Given the description of an element on the screen output the (x, y) to click on. 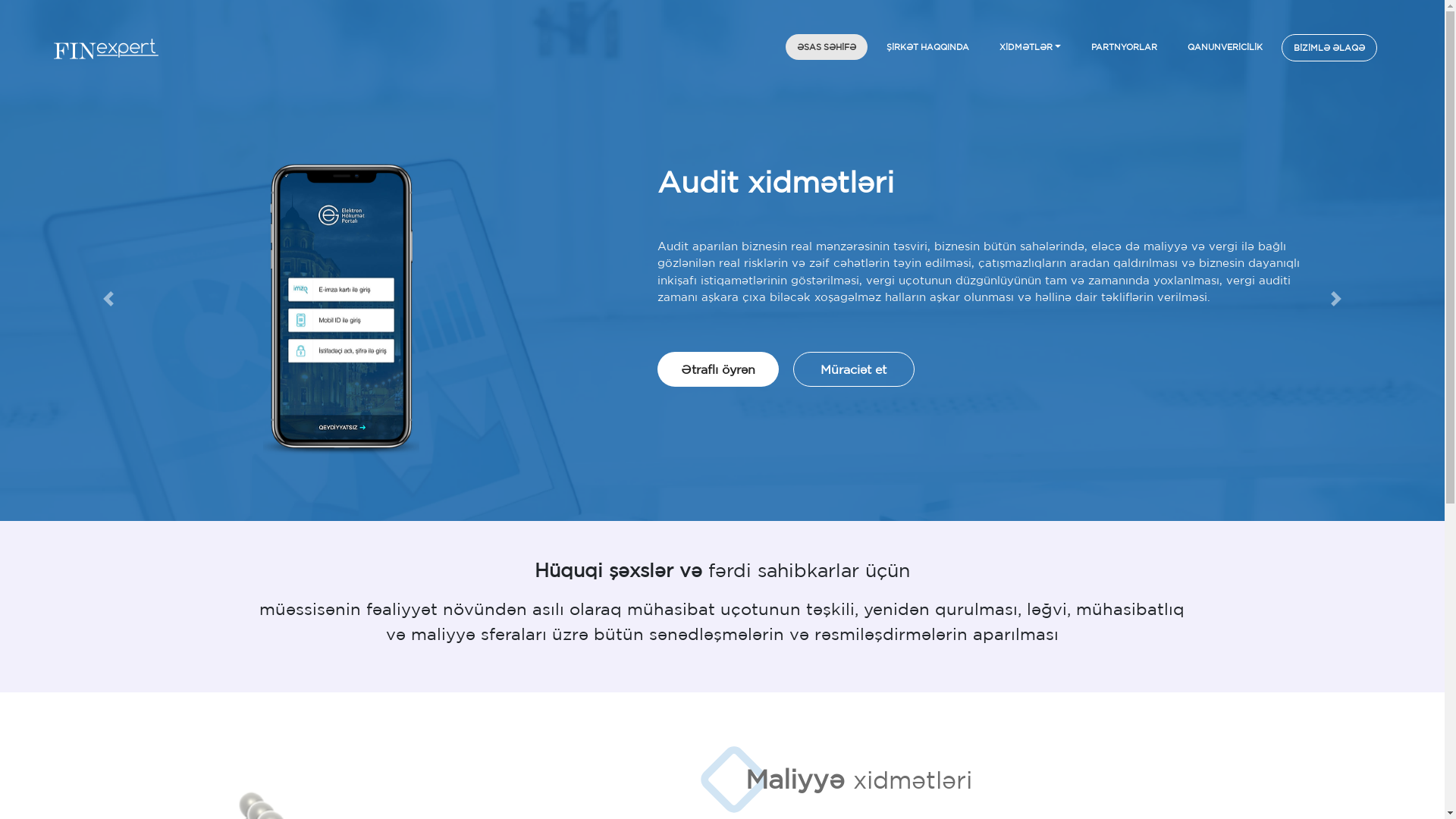
Previous Element type: text (108, 297)
PARTNYORLAR Element type: text (1123, 46)
Next Element type: text (1335, 297)
